Given the description of an element on the screen output the (x, y) to click on. 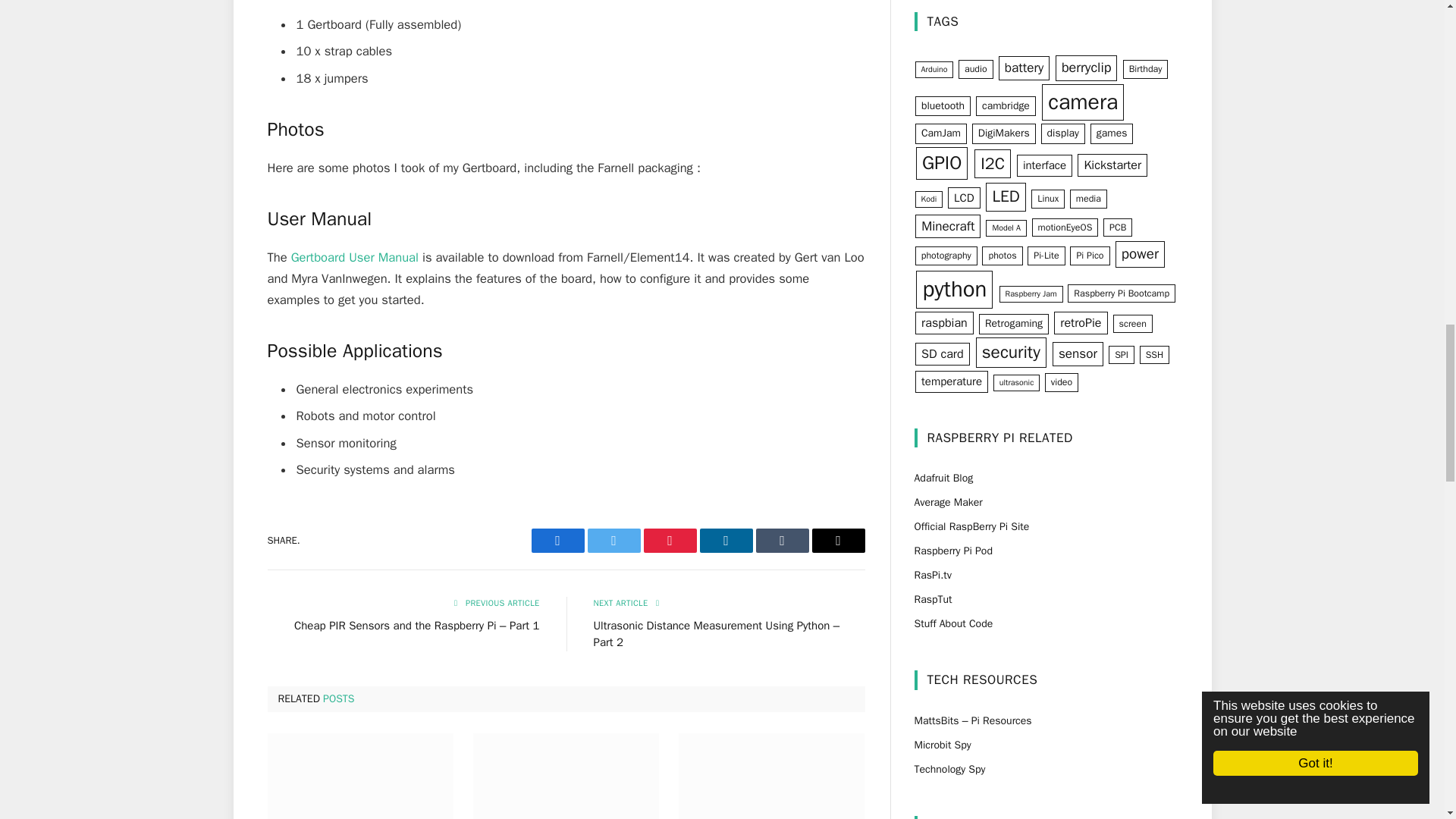
Share on Pinterest (669, 540)
Share on LinkedIn (725, 540)
Share on Tumblr (781, 540)
Share on Facebook (557, 540)
